Given the description of an element on the screen output the (x, y) to click on. 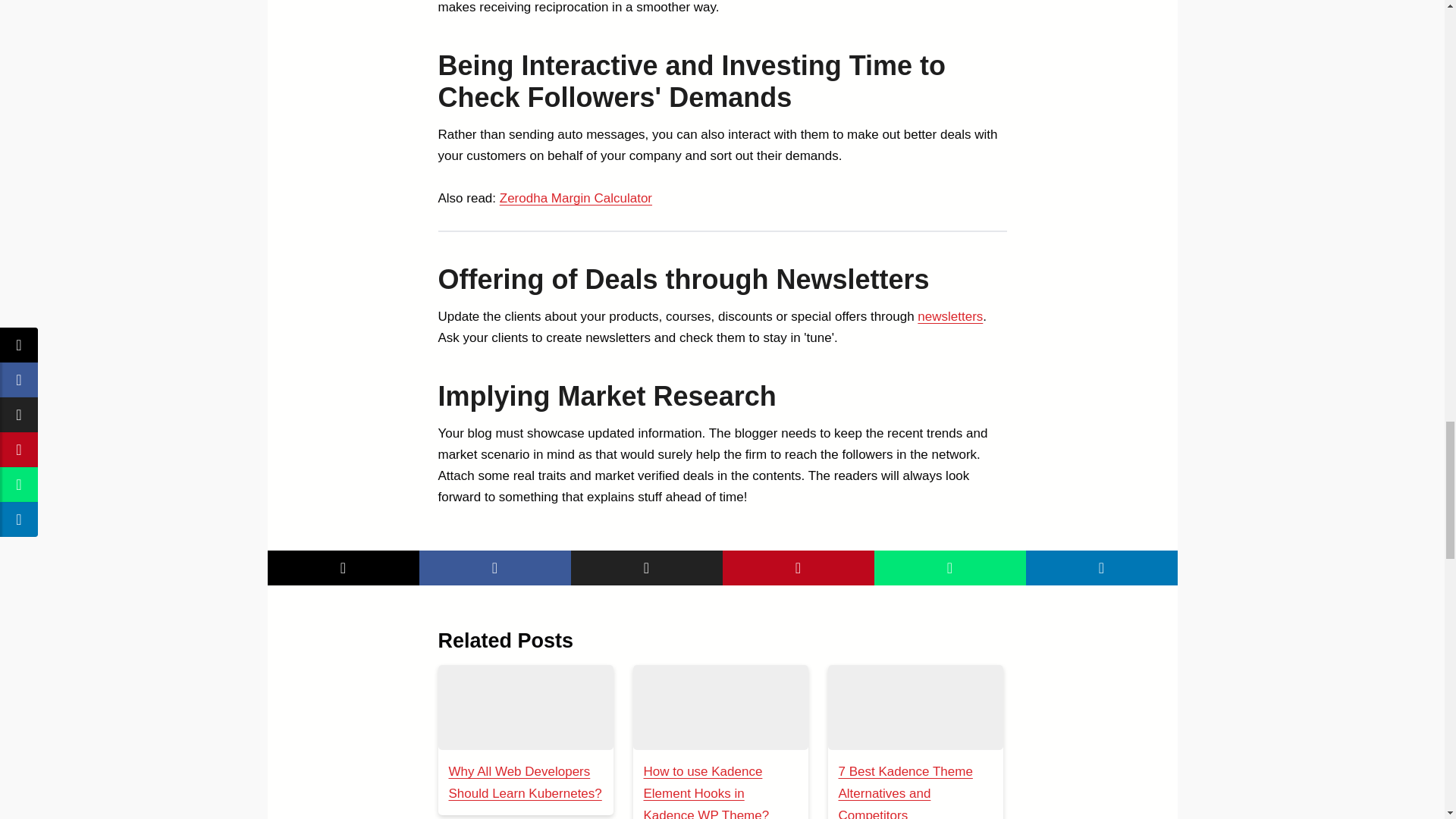
Why All Web Developers Should Learn Kubernetes? (525, 782)
7 Best Kadence Theme Alternatives and Competitors (915, 707)
7 Best Kadence Theme Alternatives and Competitors (905, 791)
Zerodha Margin Calculator (575, 197)
Why All Web Developers Should Learn Kubernetes? (525, 707)
How to use Kadence Element Hooks in Kadence WP Theme? (719, 707)
newsletters (949, 316)
How to use Kadence Element Hooks in Kadence WP Theme? (705, 791)
